Given the description of an element on the screen output the (x, y) to click on. 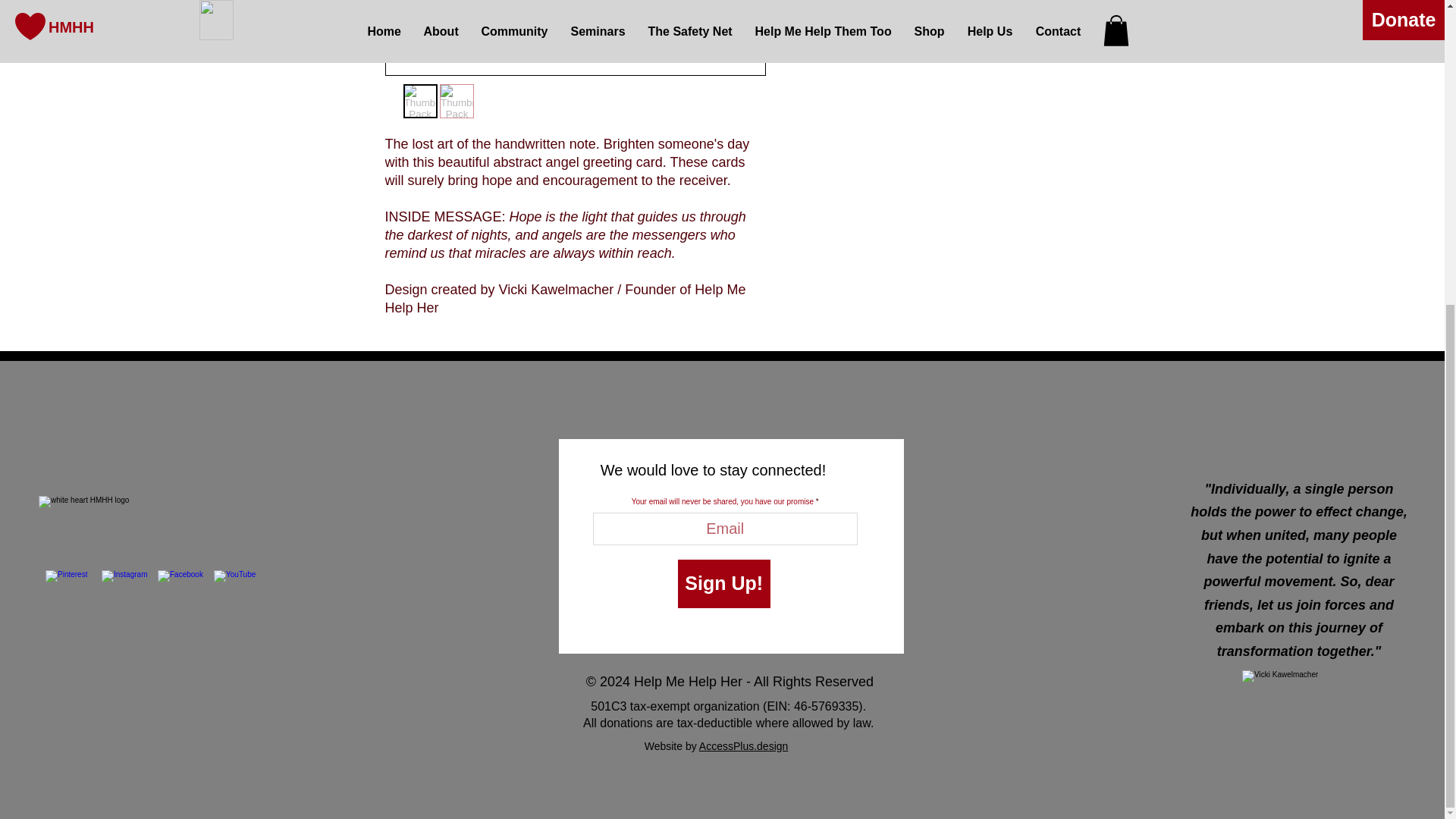
Sign Up! (724, 583)
AccessPlus.design (743, 746)
